Given the description of an element on the screen output the (x, y) to click on. 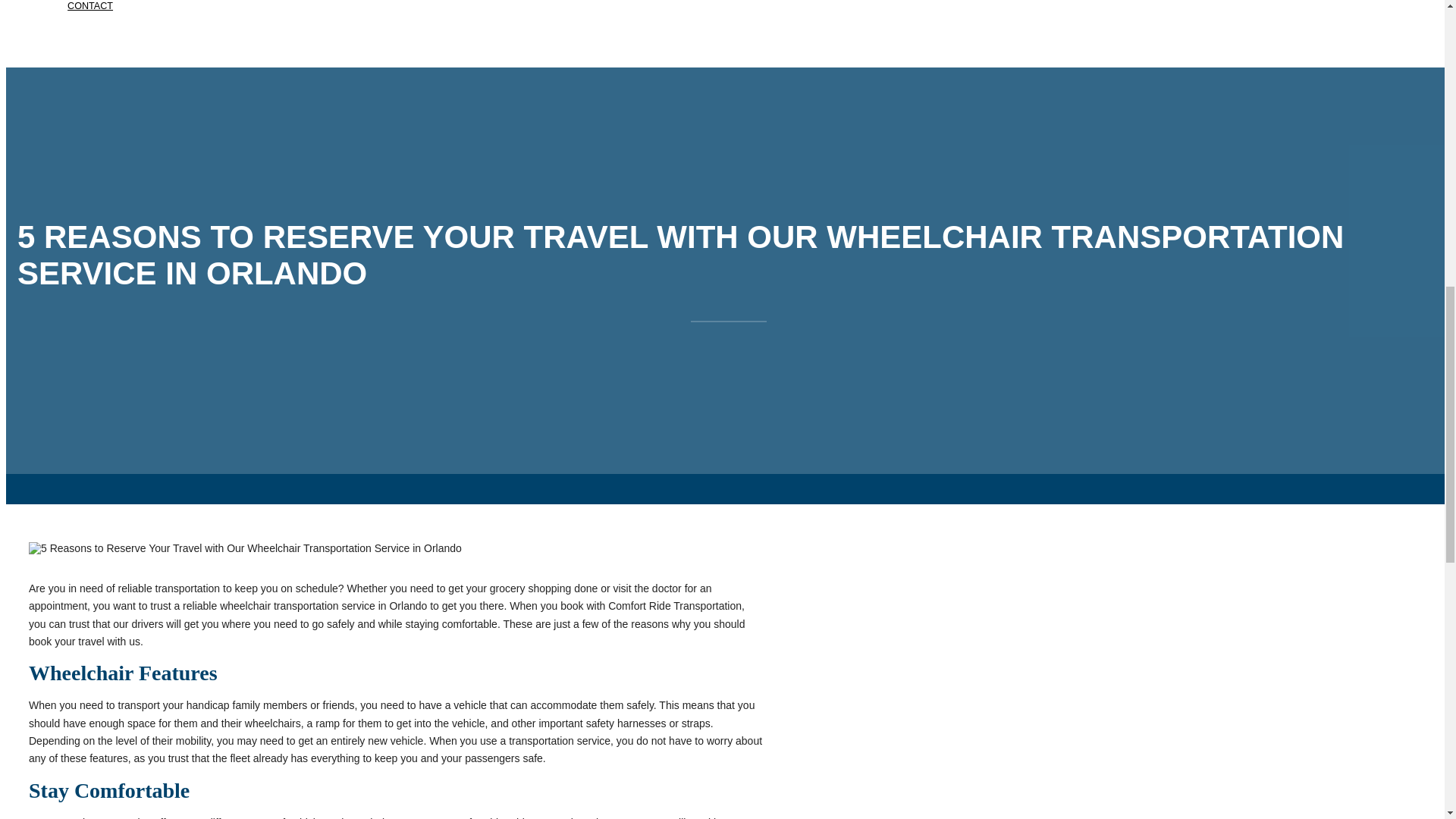
Contact (89, 28)
CONTACT (89, 28)
